Given the description of an element on the screen output the (x, y) to click on. 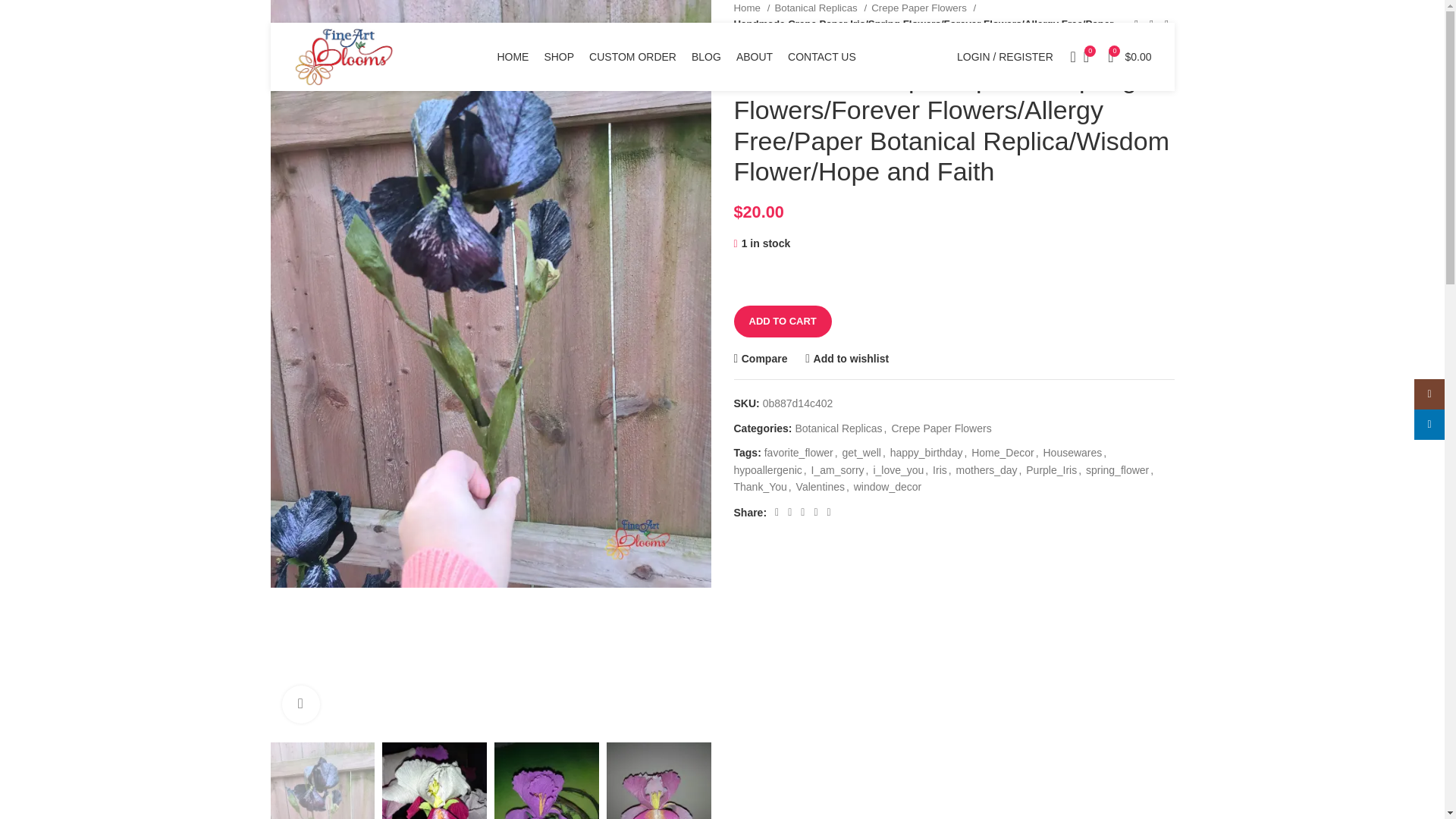
HOME (512, 56)
Crepe Paper Flowers (941, 428)
CONTACT US (821, 56)
CUSTOM ORDER (633, 56)
Botanical Replicas (820, 7)
Compare (760, 357)
BLOG (705, 56)
Shopping cart (1129, 56)
ABOUT (754, 56)
Add to wishlist (846, 357)
Crepe Paper Flowers (922, 7)
ADD TO CART (782, 321)
Botanical Replicas (838, 428)
SHOP (558, 56)
Home (751, 7)
